Given the description of an element on the screen output the (x, y) to click on. 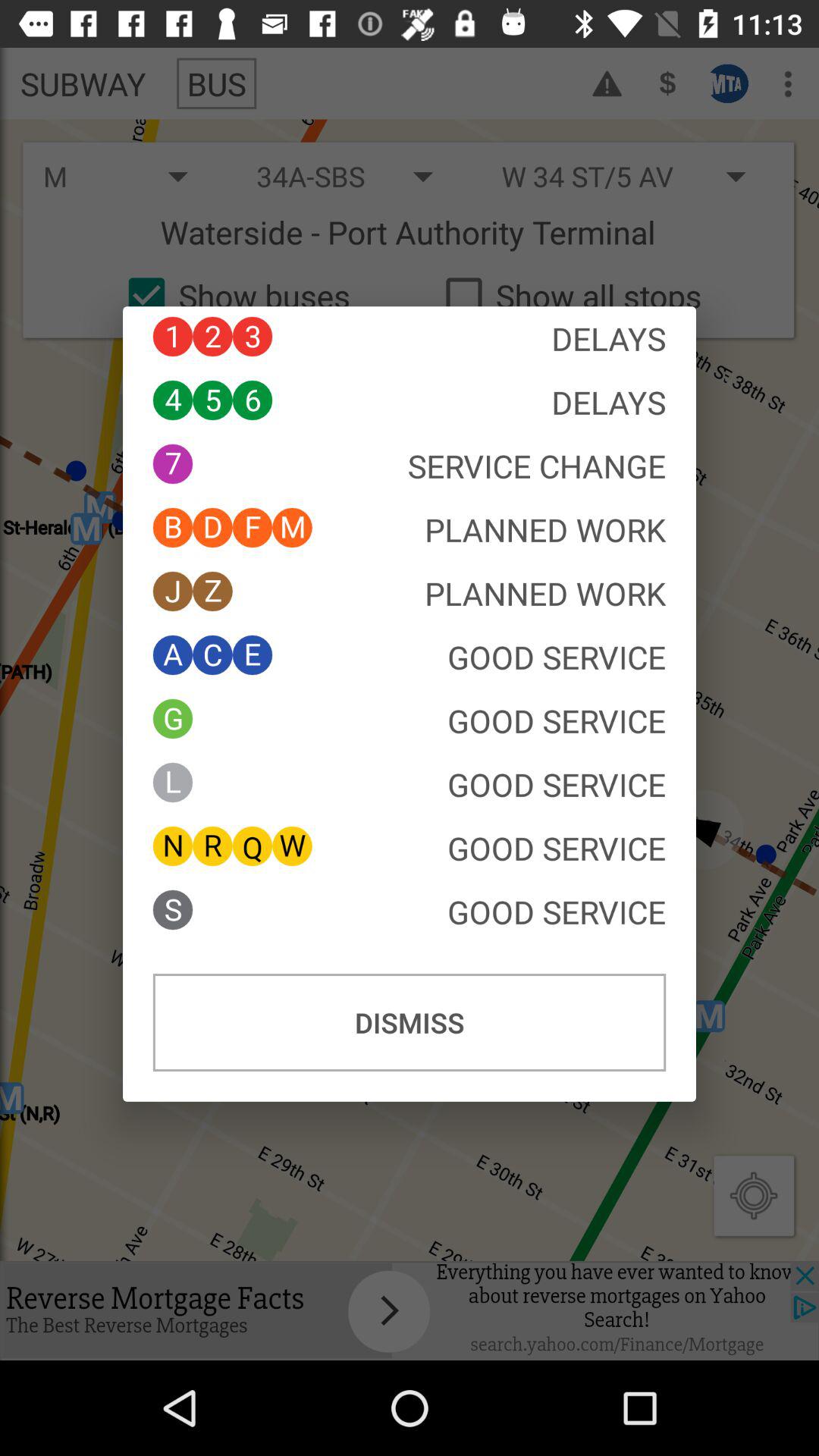
tap the button at the bottom (409, 1022)
